Given the description of an element on the screen output the (x, y) to click on. 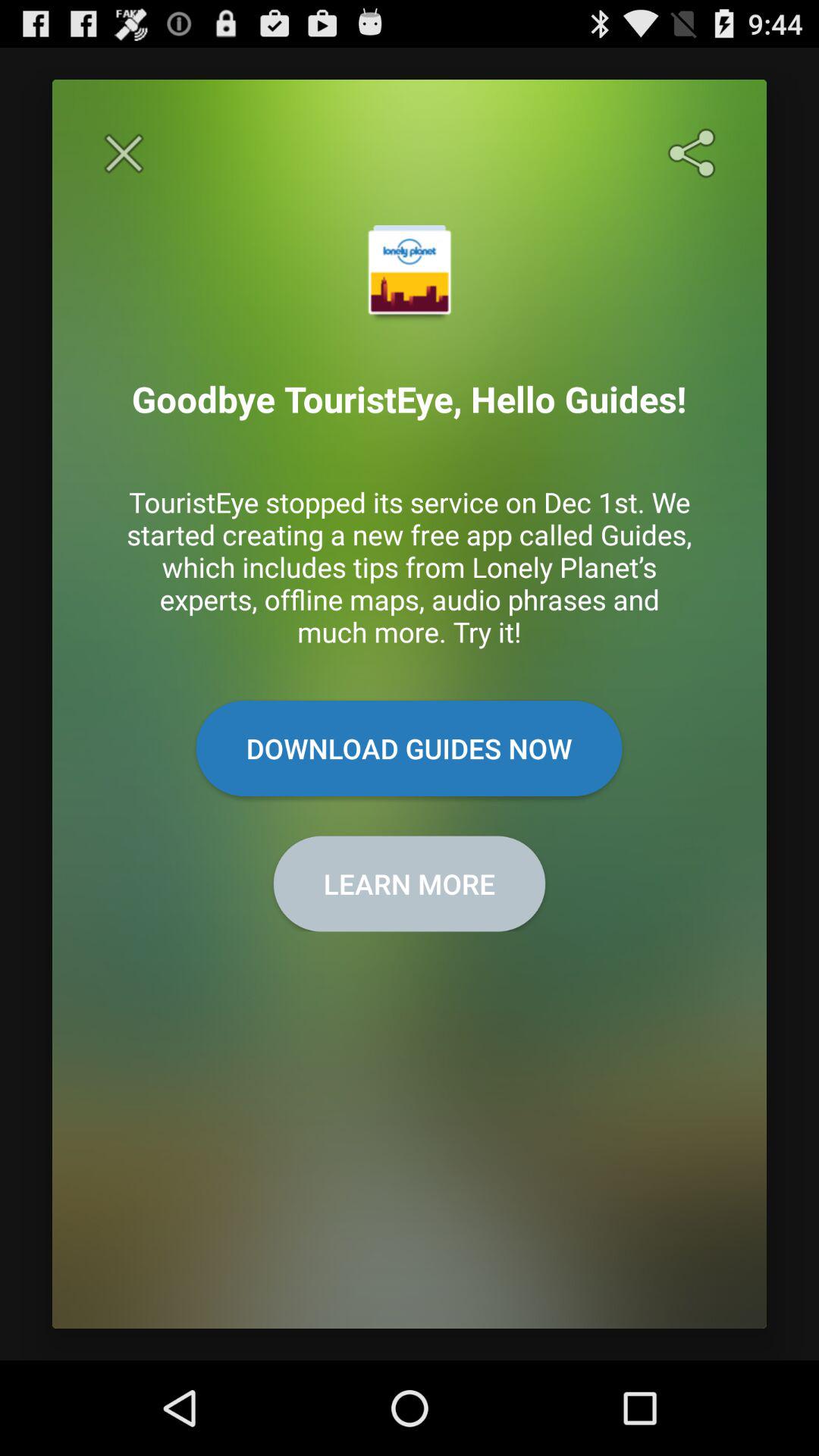
sharing options (694, 153)
